Given the description of an element on the screen output the (x, y) to click on. 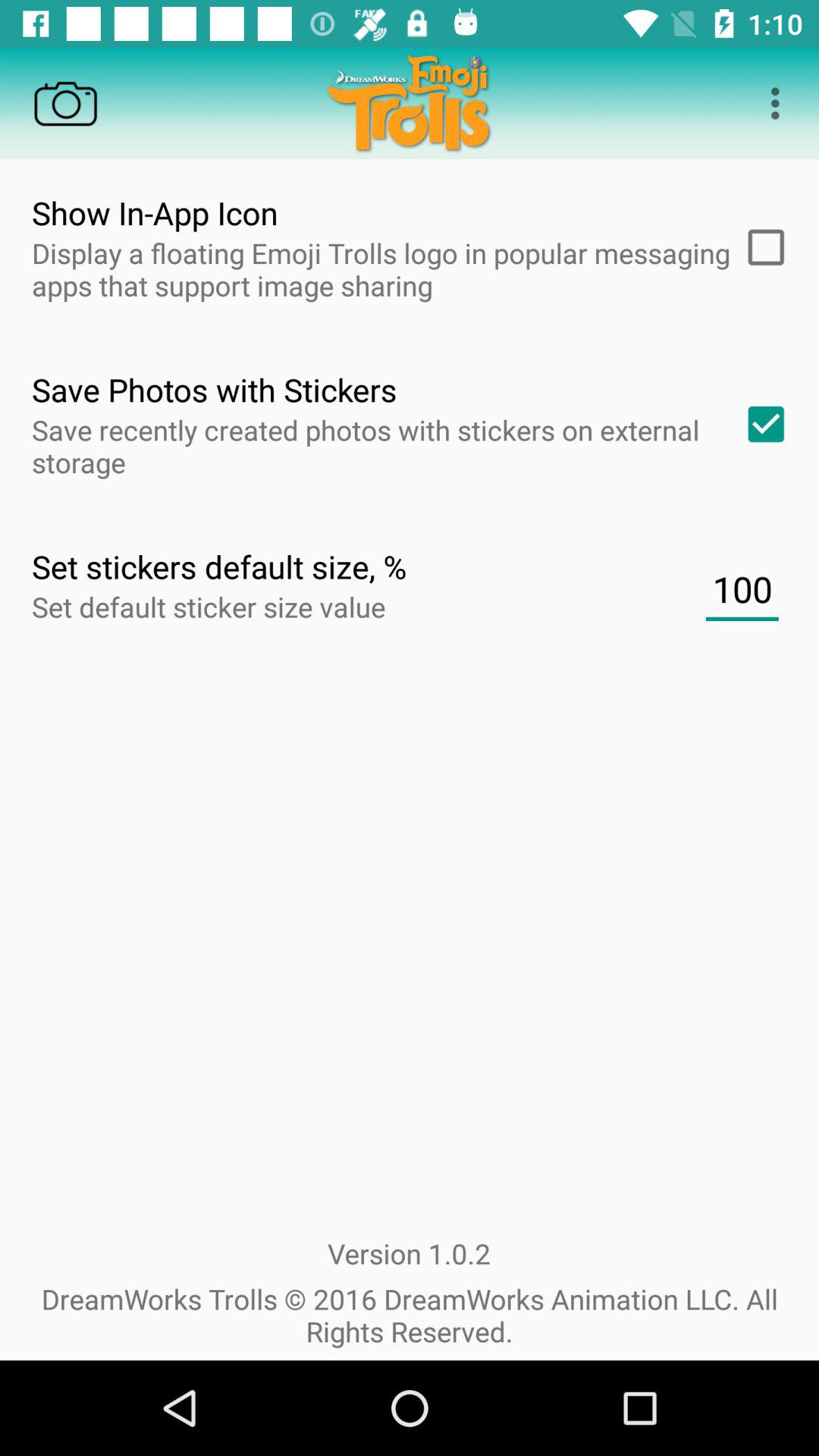
select the icon next to set stickers default (741, 589)
